Given the description of an element on the screen output the (x, y) to click on. 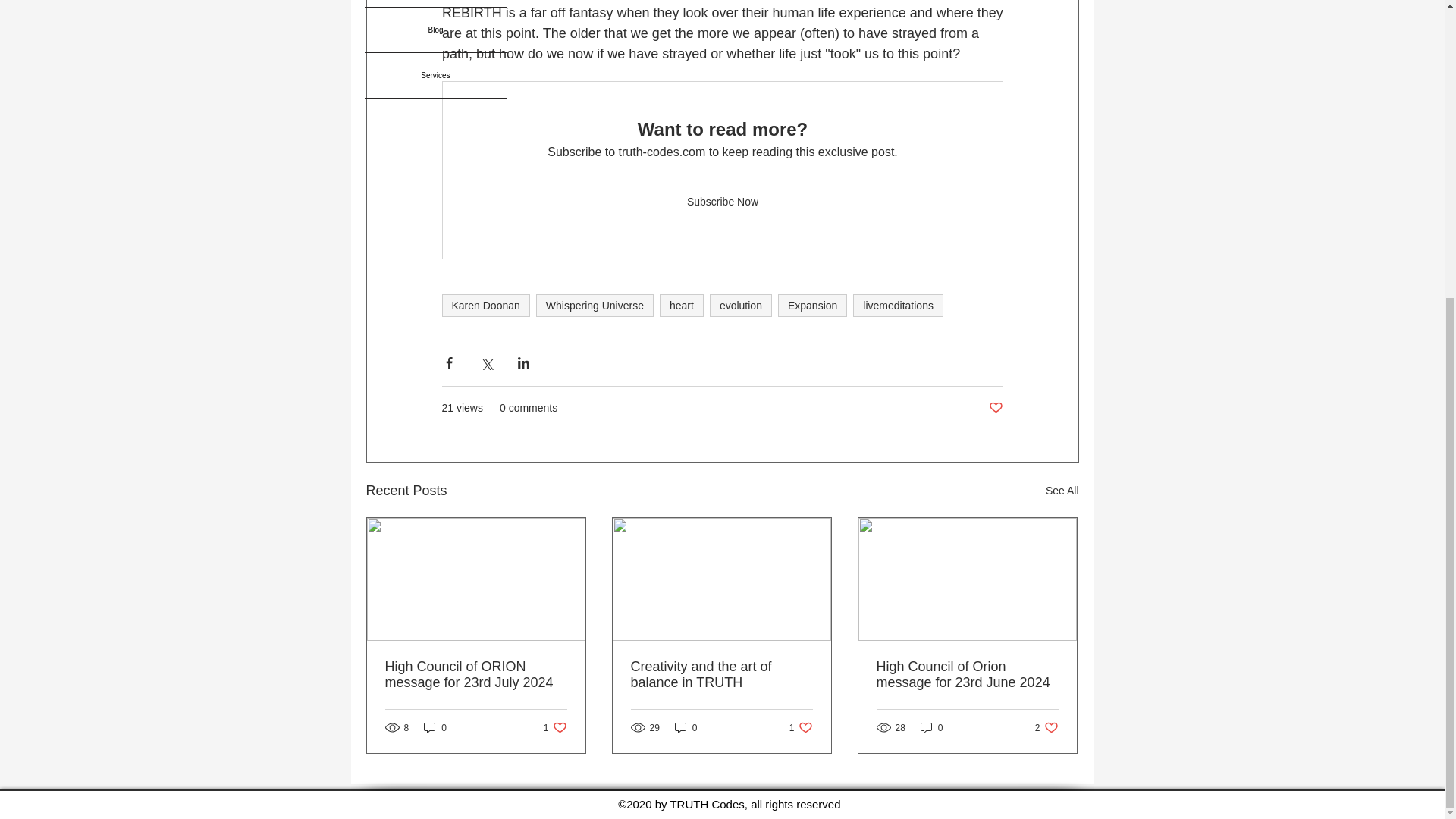
Creativity and the art of balance in TRUTH (721, 675)
Post not marked as liked (995, 408)
Whispering Universe (594, 305)
0 (931, 727)
Subscribe Now (722, 202)
High Council of ORION message for 23rd July 2024 (476, 675)
High Council of Orion message for 23rd June 2024 (967, 675)
Expansion (812, 305)
0 (435, 727)
livemeditations (898, 305)
heart (1046, 727)
Karen Doonan (681, 305)
